Given the description of an element on the screen output the (x, y) to click on. 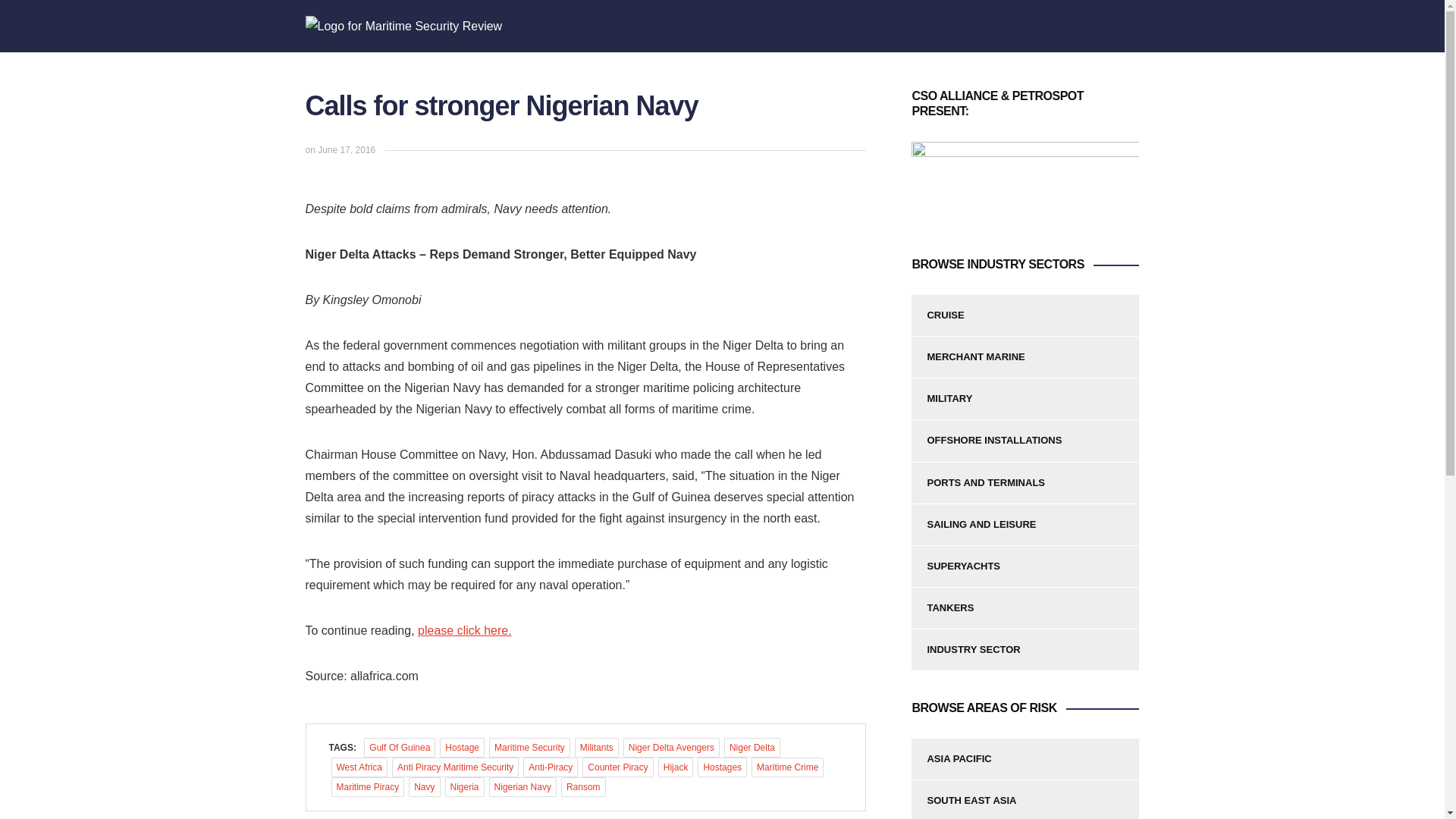
Hijack (676, 767)
West Africa (358, 767)
Hostage (461, 747)
Militants (596, 747)
Counter Piracy (617, 767)
Maritime Piracy (367, 786)
Gulf Of Guinea (399, 747)
Anti-Piracy (550, 767)
Anti Piracy Maritime Security (454, 767)
Hostages (721, 767)
